Given the description of an element on the screen output the (x, y) to click on. 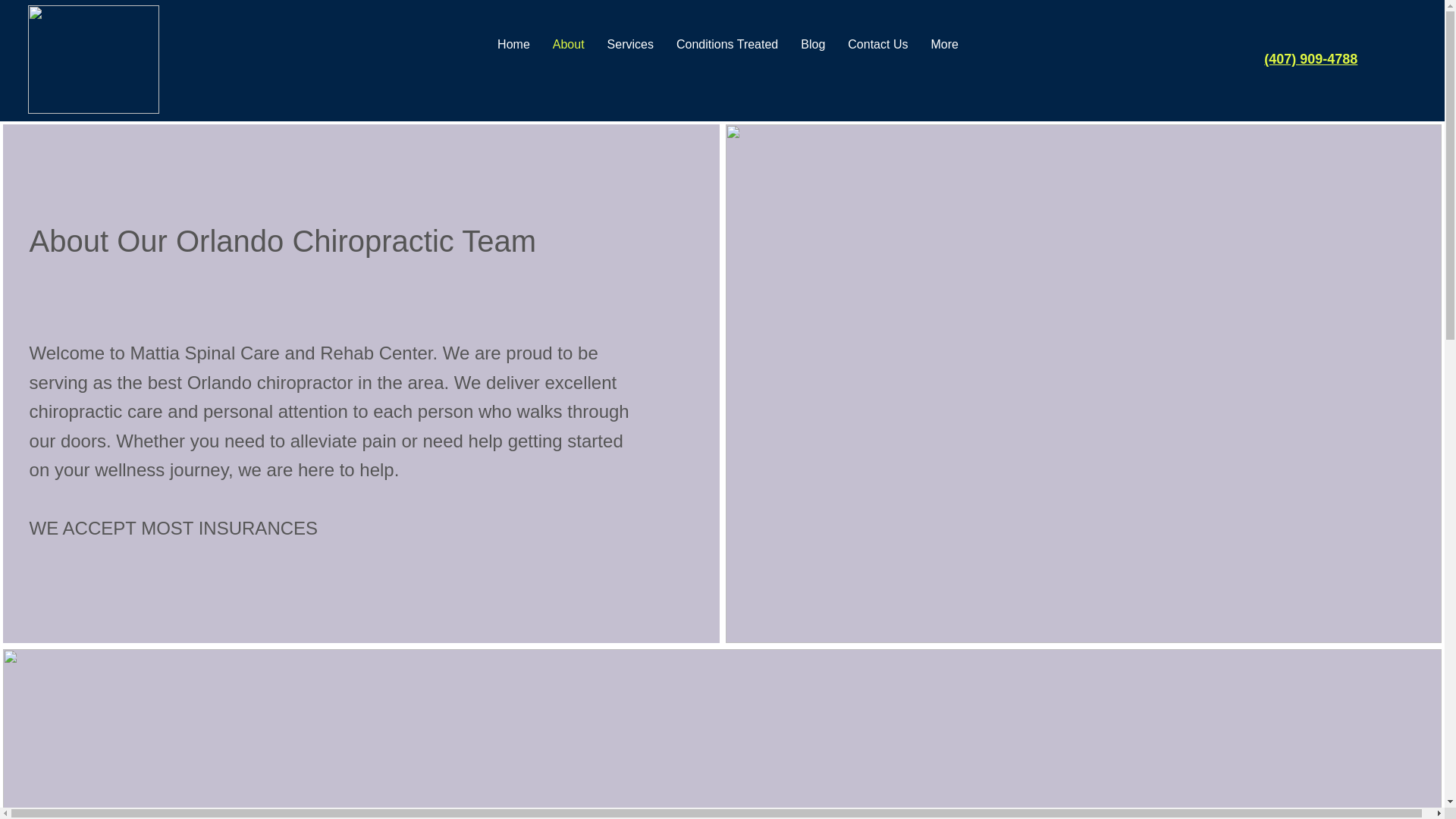
Contact Us (876, 58)
Blog (812, 58)
About (568, 58)
Home (513, 58)
